Given the description of an element on the screen output the (x, y) to click on. 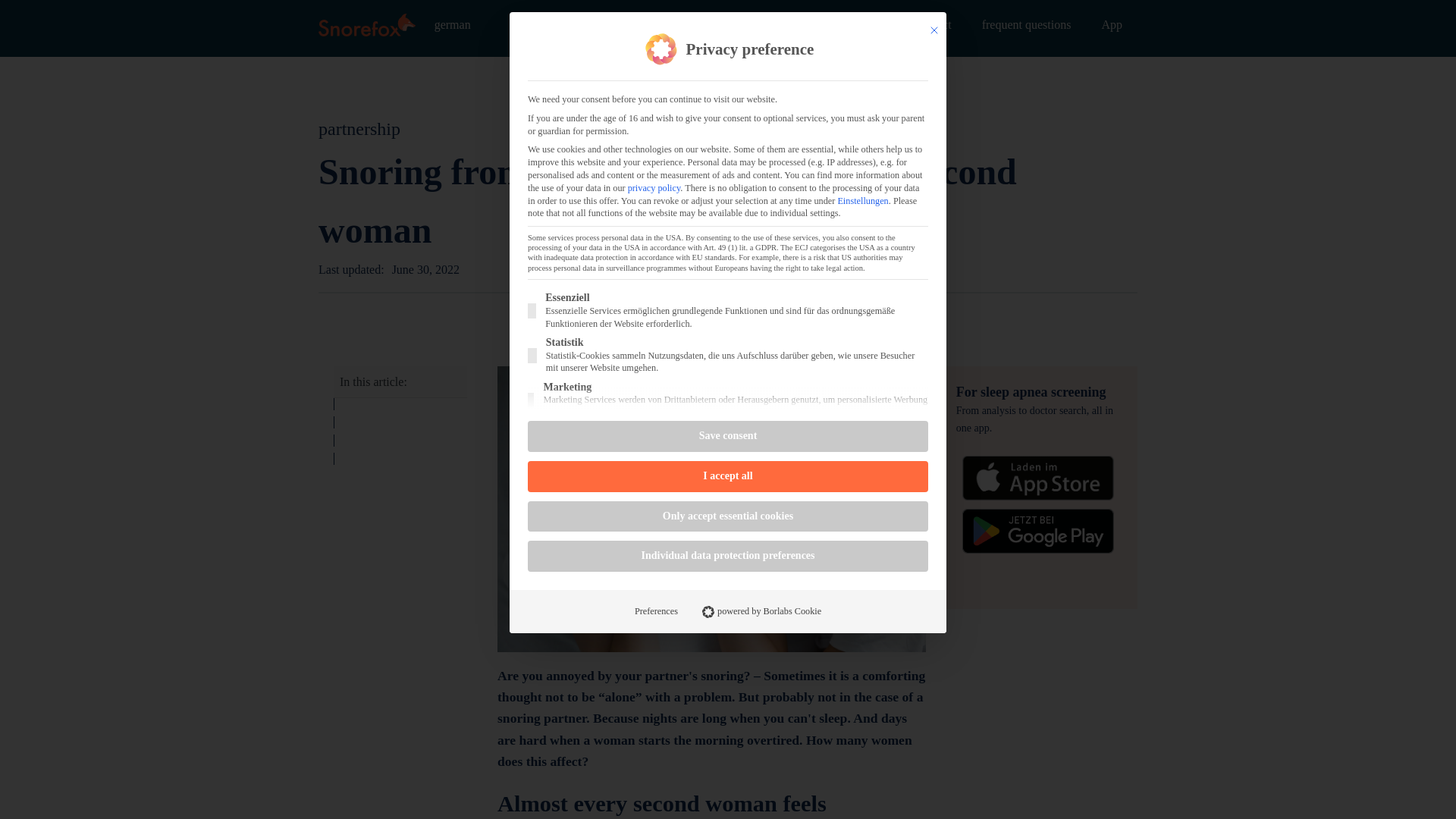
german (452, 24)
frequent questions (1026, 24)
Save consent (727, 436)
privacy policy (654, 187)
Einstellungen (862, 200)
partnership (359, 128)
App (1111, 24)
product (932, 24)
